Given the description of an element on the screen output the (x, y) to click on. 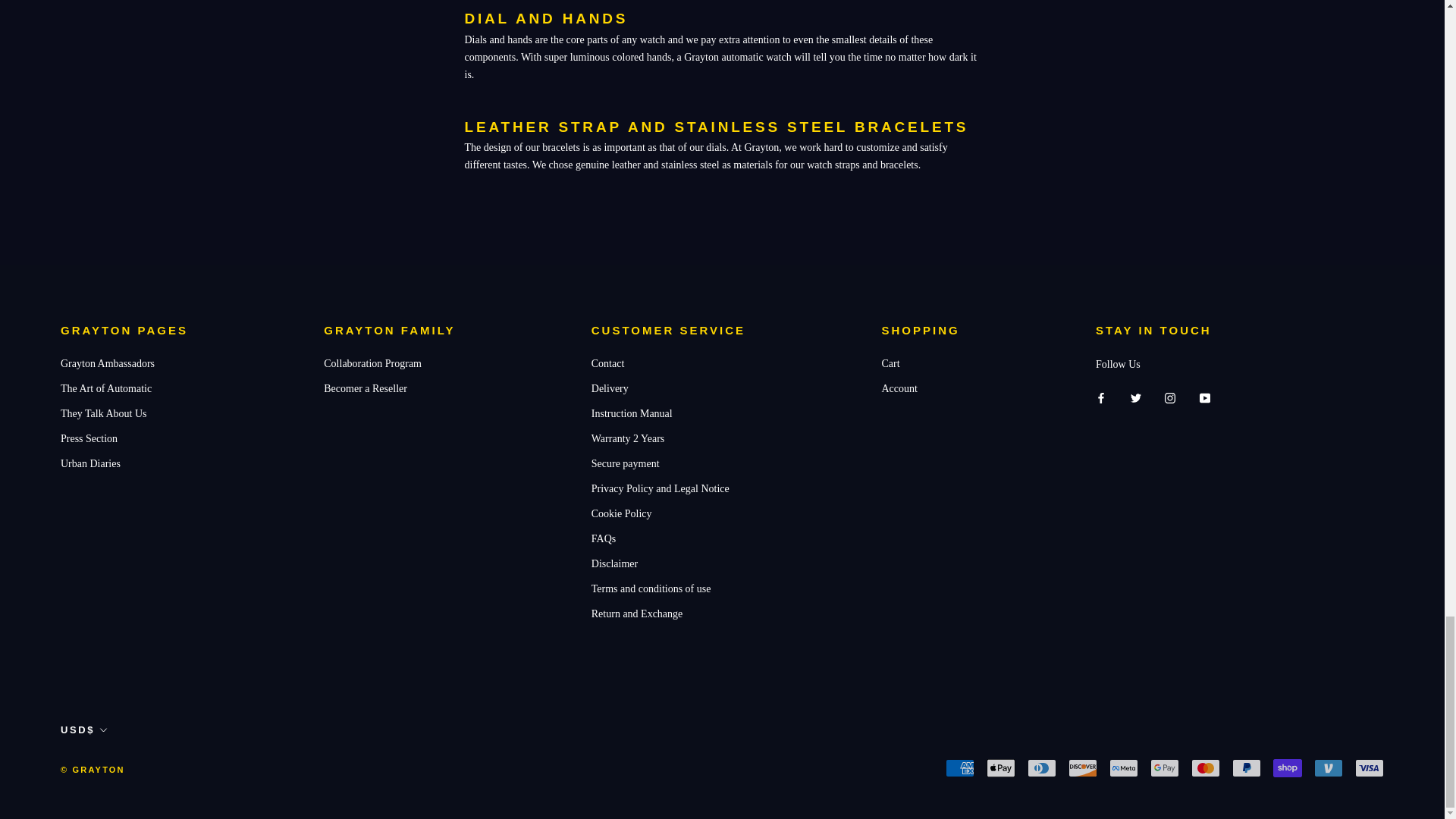
American Express (959, 768)
Meta Pay (1123, 768)
PayPal (1245, 768)
Mastercard (1205, 768)
Diners Club (1042, 768)
Shop Pay (1286, 768)
Visa (1369, 768)
Google Pay (1164, 768)
Venmo (1328, 768)
Apple Pay (1000, 768)
Discover (1082, 768)
